Given the description of an element on the screen output the (x, y) to click on. 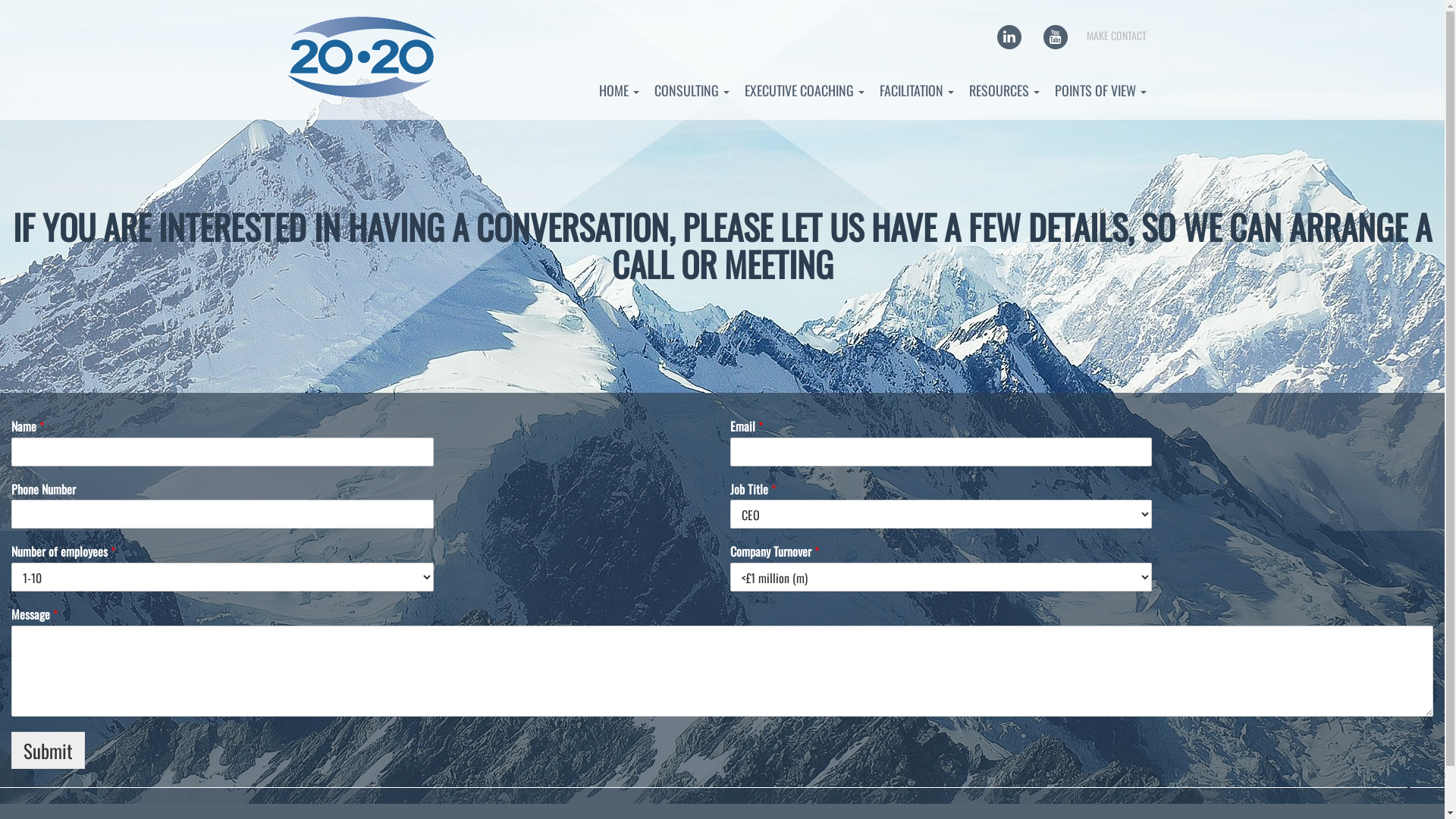
  Element type: text (1410, 793)
HOME Element type: text (618, 89)
LINKEDIN Element type: text (1009, 35)
RESOURCES Element type: text (1004, 89)
Submit Element type: text (47, 750)
FACILITATION Element type: text (916, 89)
CONSULTING Element type: text (691, 89)
MAKE CONTACT Element type: text (1116, 35)
Go to top Element type: hover (1410, 793)
YOUTUBE Element type: text (1055, 35)
POINTS OF VIEW Element type: text (1100, 89)
EXECUTIVE COACHING Element type: text (804, 89)
